Given the description of an element on the screen output the (x, y) to click on. 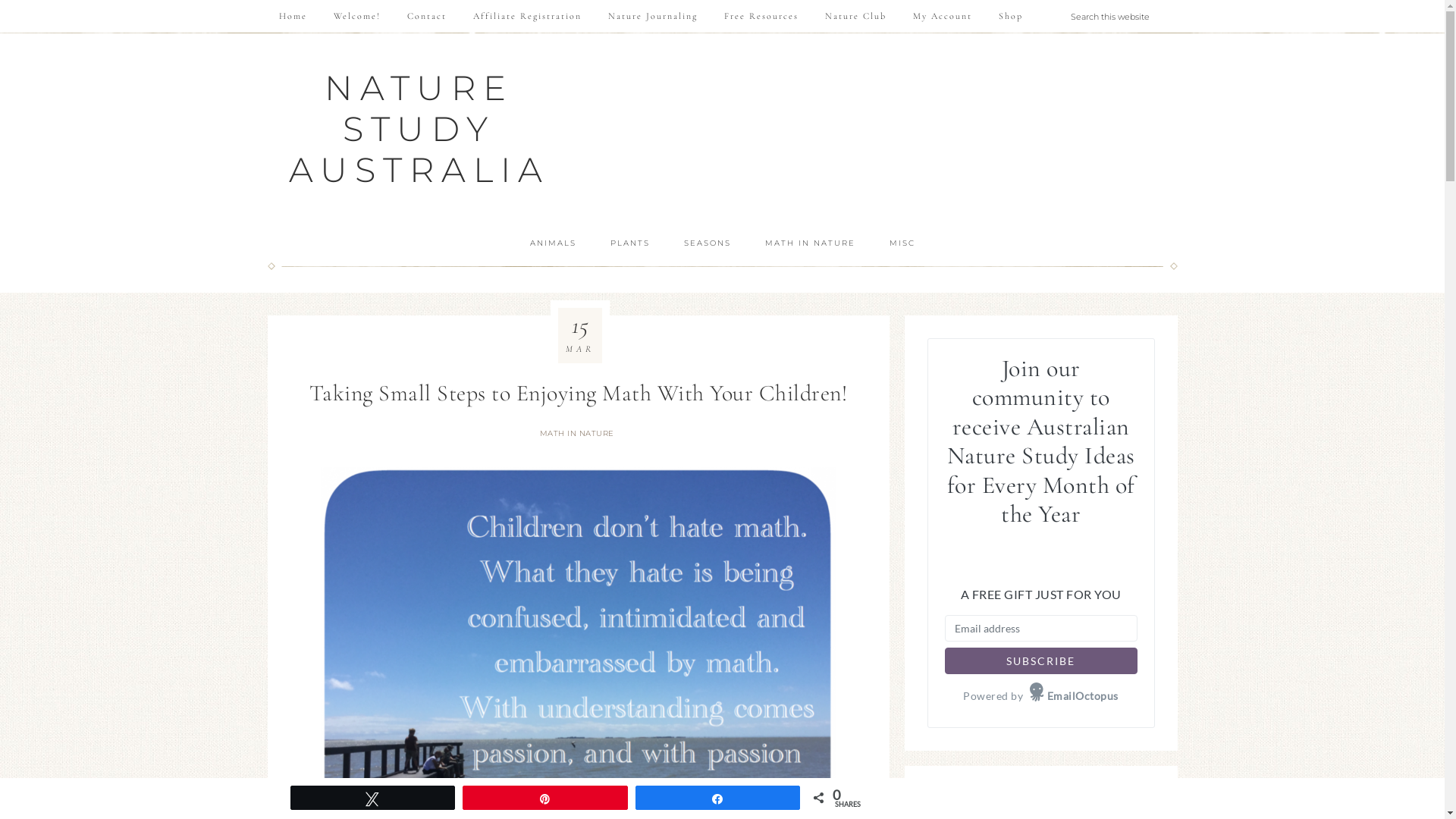
Affiliate Registration Element type: text (526, 15)
Nature Club Element type: text (854, 15)
Subscribe Element type: text (1040, 660)
Home Element type: text (291, 15)
MATH IN NATURE Element type: text (578, 433)
Contact Element type: text (426, 15)
Free Resources Element type: text (760, 15)
Nature Journaling Element type: text (652, 15)
PLANTS Element type: text (629, 243)
EmailOctopus Element type: text (1073, 695)
Shop Element type: text (1010, 15)
Welcome! Element type: text (356, 15)
My Account Element type: text (941, 15)
NATURE STUDY AUSTRALIA Element type: text (418, 128)
SEASONS Element type: text (707, 243)
ANIMALS Element type: text (552, 243)
MISC Element type: text (901, 243)
MATH IN NATURE Element type: text (809, 243)
